Given the description of an element on the screen output the (x, y) to click on. 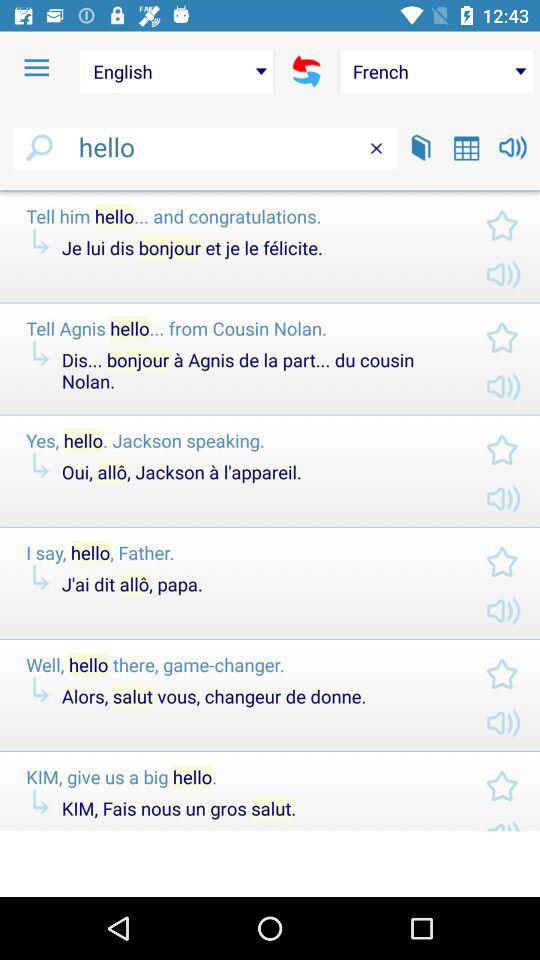
sound on/off (512, 147)
